Given the description of an element on the screen output the (x, y) to click on. 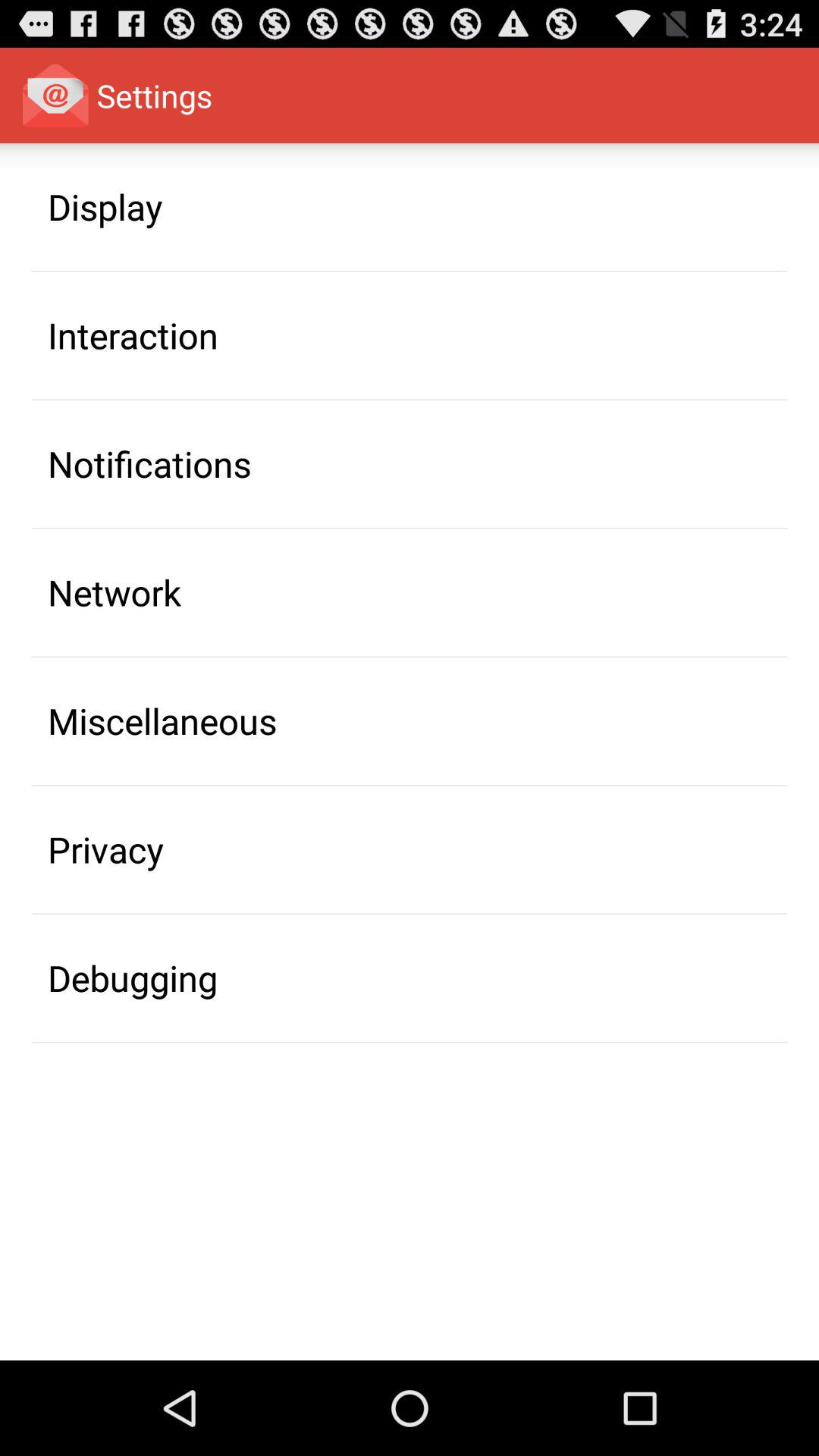
swipe until network item (114, 592)
